Given the description of an element on the screen output the (x, y) to click on. 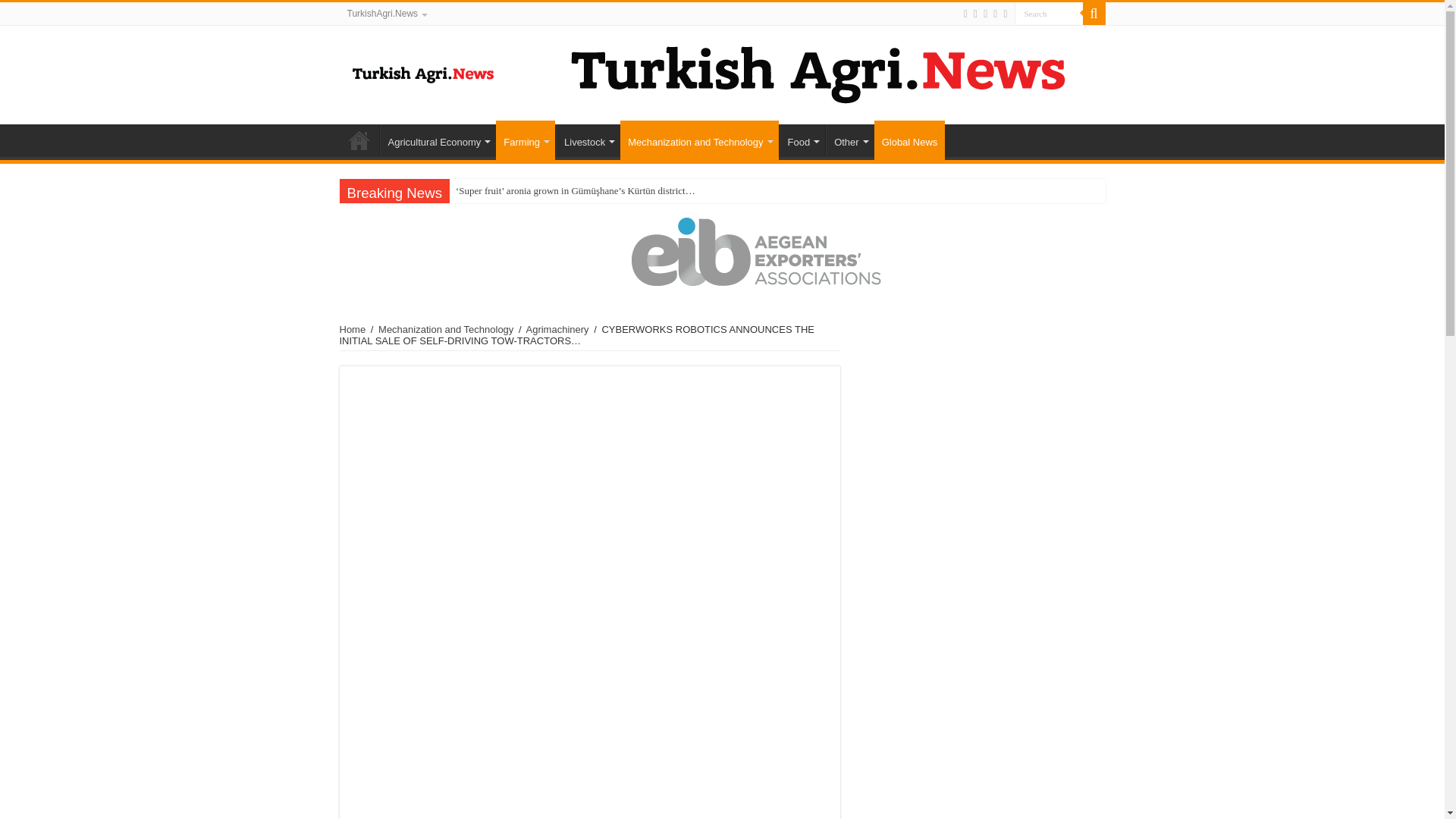
Search (1048, 13)
TurkishAgri.News (386, 13)
Search (1048, 13)
Agricultural Economy (437, 140)
Livestock (588, 140)
Search (1094, 13)
Farming (525, 139)
Home (358, 140)
Search (1048, 13)
